Given the description of an element on the screen output the (x, y) to click on. 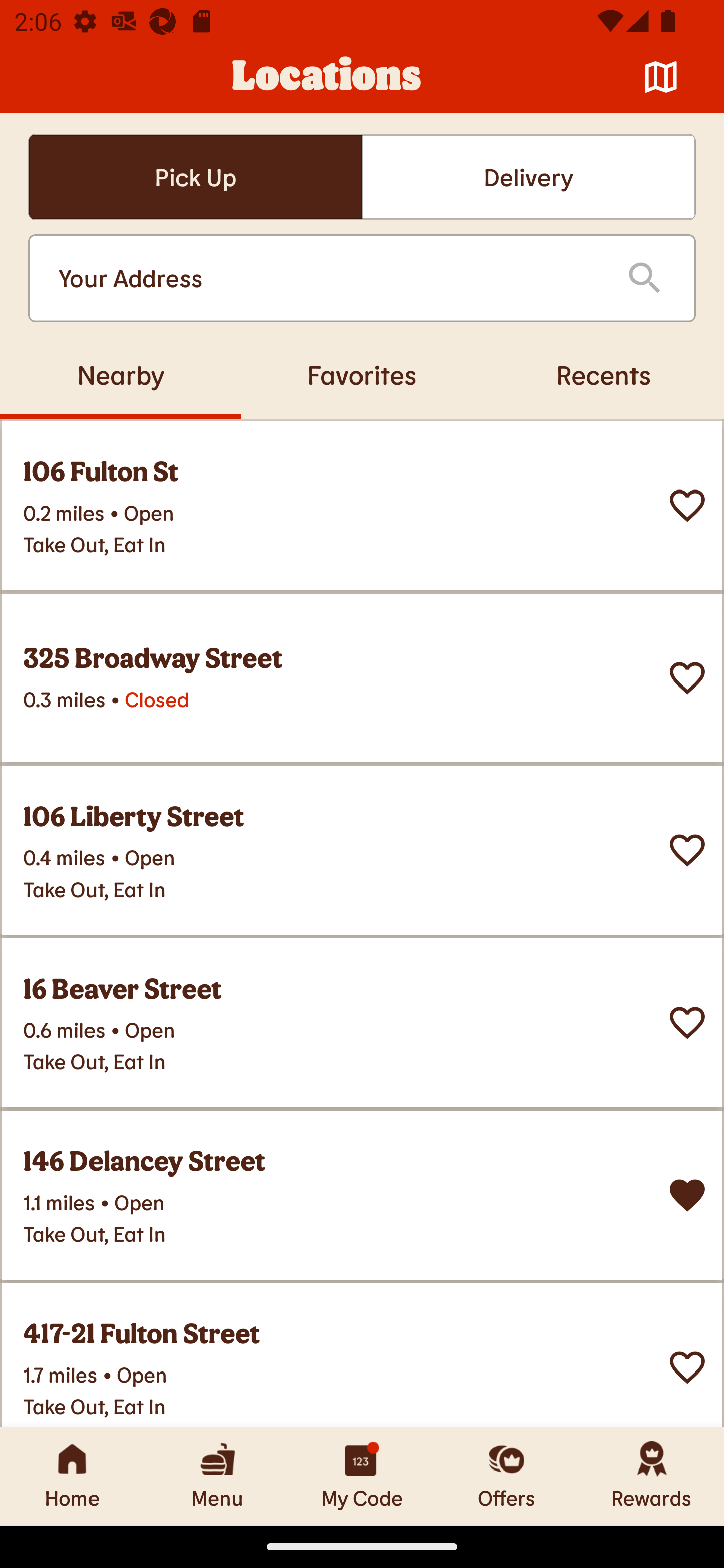
Map 󰦂 (660, 77)
Locations (326, 77)
Pick UpSelected Pick UpSelected Pick Up (195, 176)
Delivery Delivery Delivery (528, 176)
Your Address (327, 277)
Nearby (120, 374)
Favorites (361, 374)
Recents (603, 374)
Set this restaurant as a favorite  (687, 505)
Set this restaurant as a favorite  (687, 677)
Set this restaurant as a favorite  (687, 850)
Set this restaurant as a favorite  (687, 1022)
Remove from Favorites?  (687, 1195)
Set this restaurant as a favorite  (687, 1367)
Home (72, 1475)
Menu (216, 1475)
My Code (361, 1475)
Offers (506, 1475)
Rewards (651, 1475)
